Given the description of an element on the screen output the (x, y) to click on. 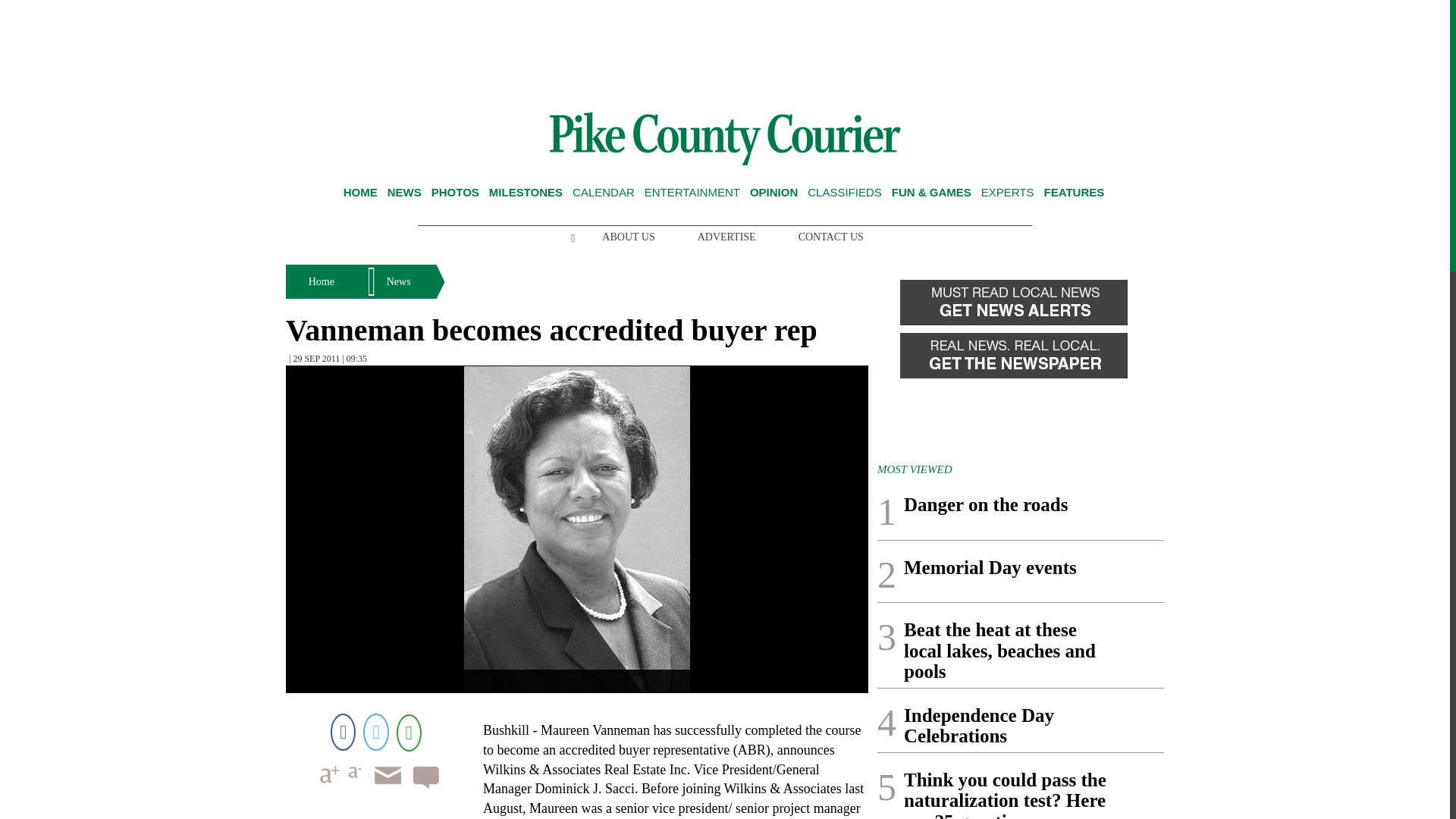
PHOTOS (454, 192)
NEWS (404, 192)
HOME (360, 192)
EXPERTS (1007, 192)
FEATURES (1074, 192)
OPINION (773, 192)
3rd party ad content (724, 49)
CLASSIFIEDS (845, 192)
CALENDAR (603, 192)
ENTERTAINMENT (692, 192)
MILESTONES (525, 192)
